Given the description of an element on the screen output the (x, y) to click on. 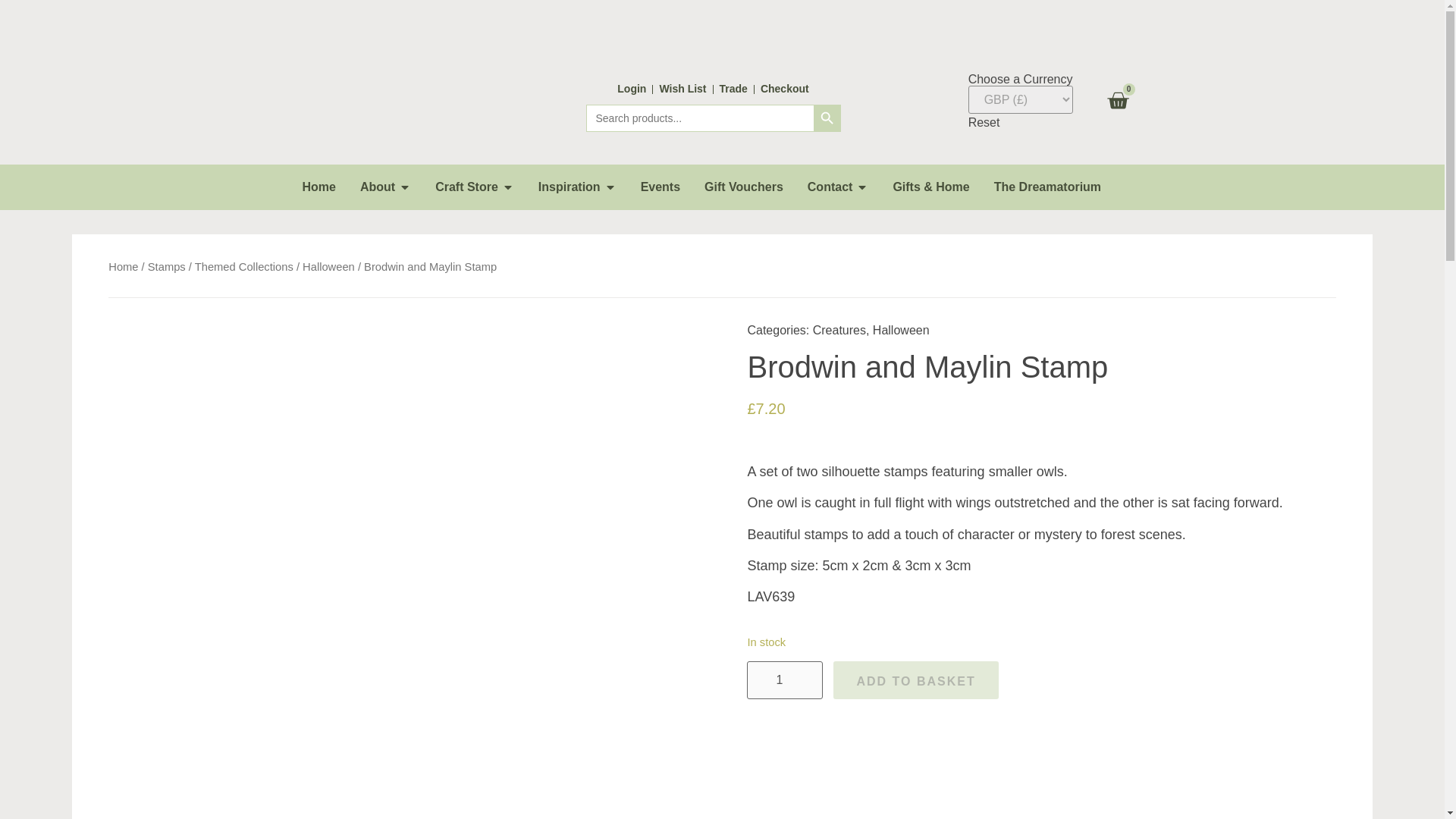
Gift Vouchers (743, 187)
Login (631, 89)
Wish List (682, 89)
Reset (984, 122)
1 (784, 679)
Trade (733, 89)
SEARCH BUTTON (826, 117)
Inspiration (568, 187)
Events (659, 187)
Checkout (784, 89)
Home (317, 187)
The Dreamatorium (1047, 187)
0 (1117, 102)
